Given the description of an element on the screen output the (x, y) to click on. 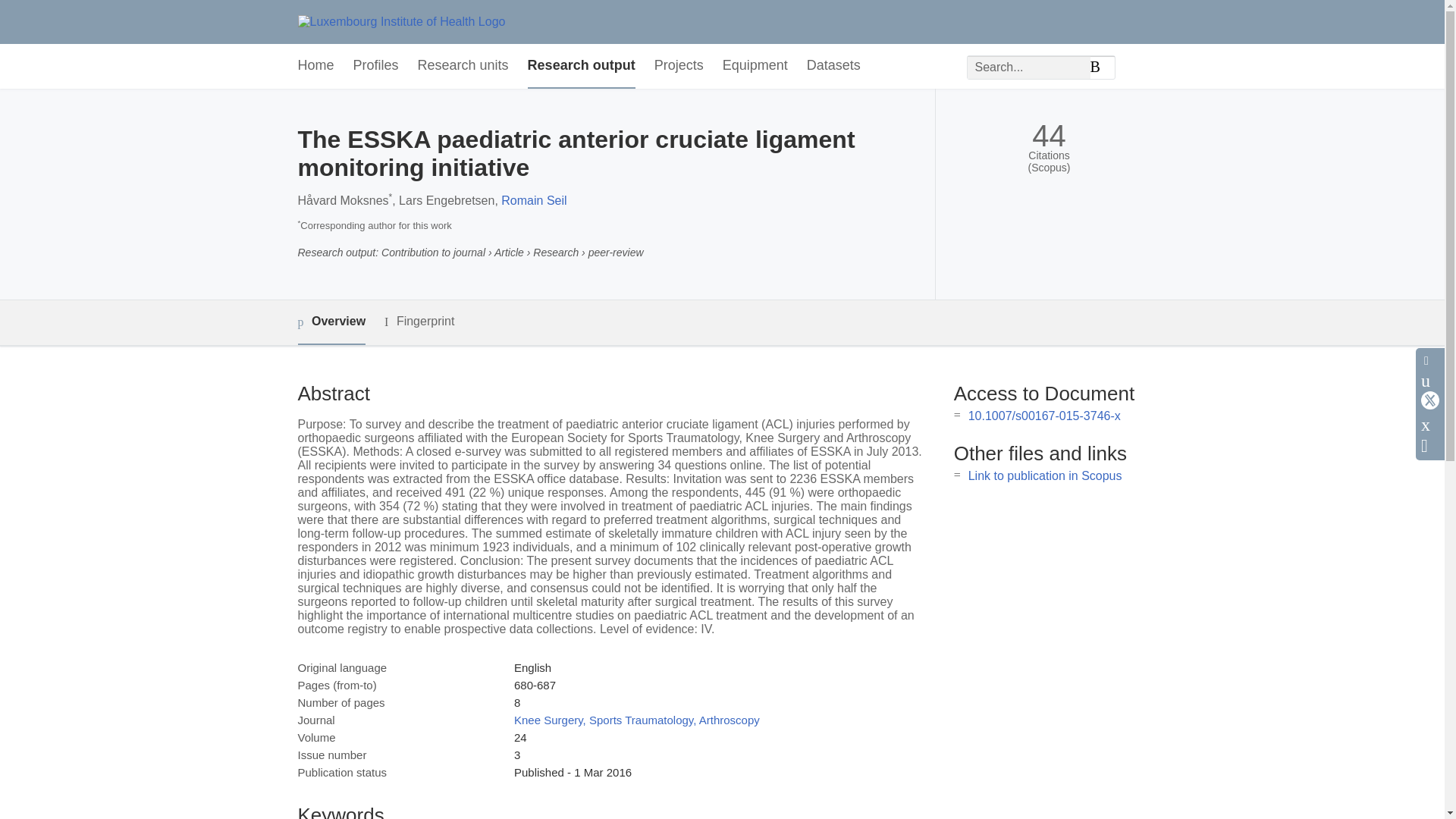
Research output (580, 66)
Romain Seil (533, 200)
Research units (462, 66)
Knee Surgery, Sports Traumatology, Arthroscopy (636, 719)
Equipment (754, 66)
Overview (331, 322)
Fingerprint (419, 321)
Projects (678, 66)
Link to publication in Scopus (1045, 475)
Luxembourg Institute of Health Home (401, 21)
Profiles (375, 66)
Datasets (833, 66)
